Given the description of an element on the screen output the (x, y) to click on. 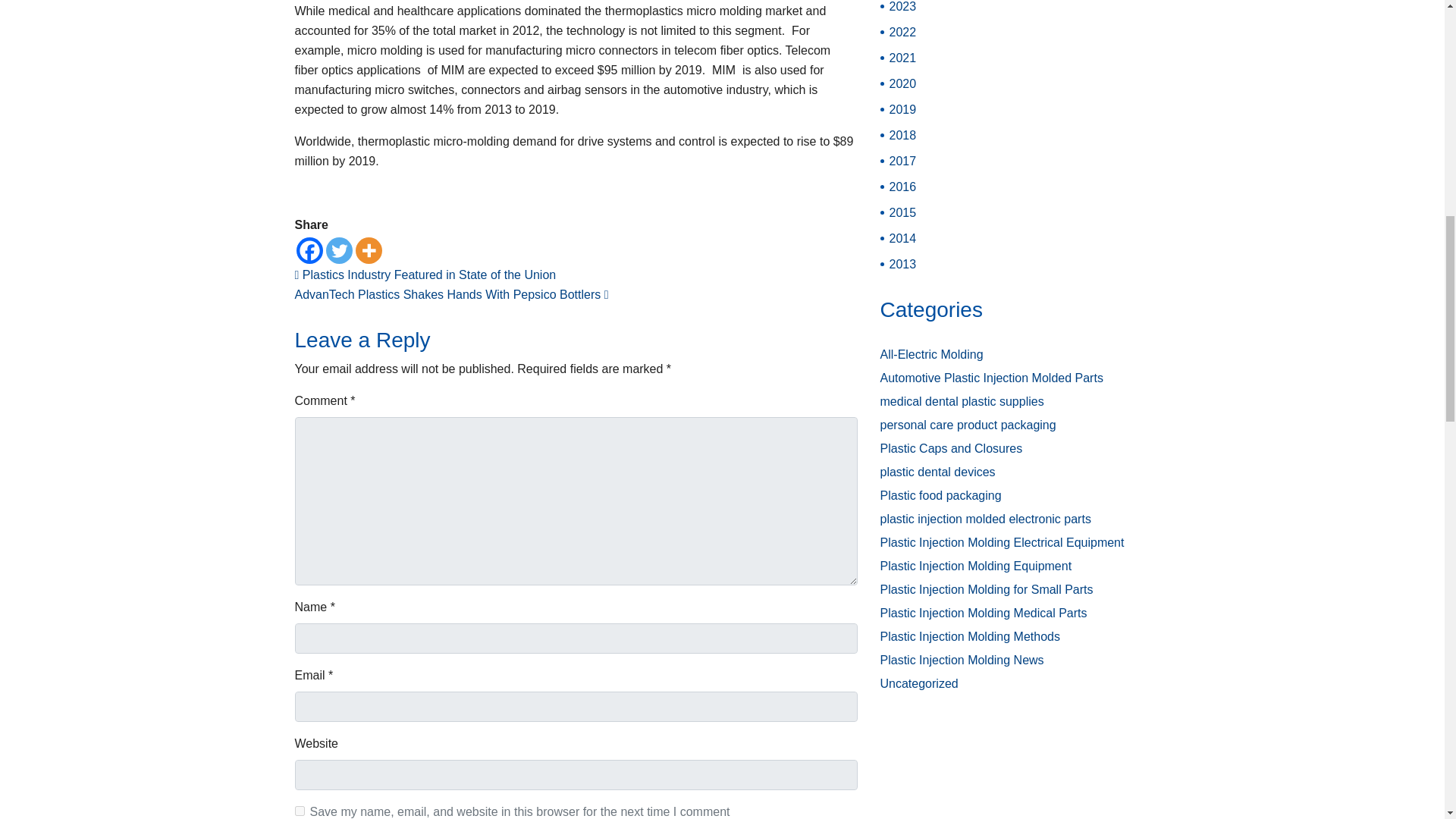
yes (299, 810)
